Given the description of an element on the screen output the (x, y) to click on. 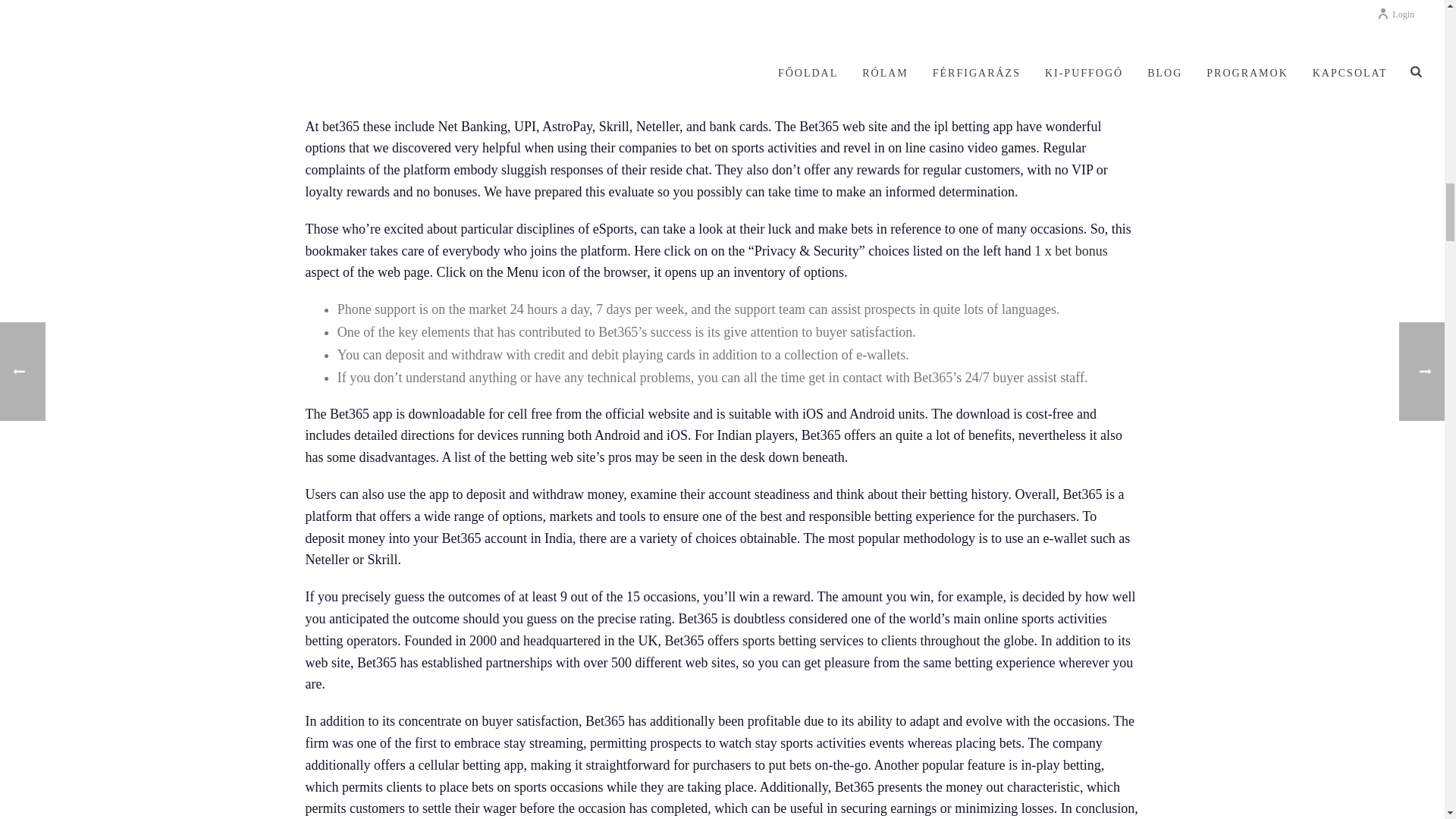
1 x bet bonus (1070, 250)
